Given the description of an element on the screen output the (x, y) to click on. 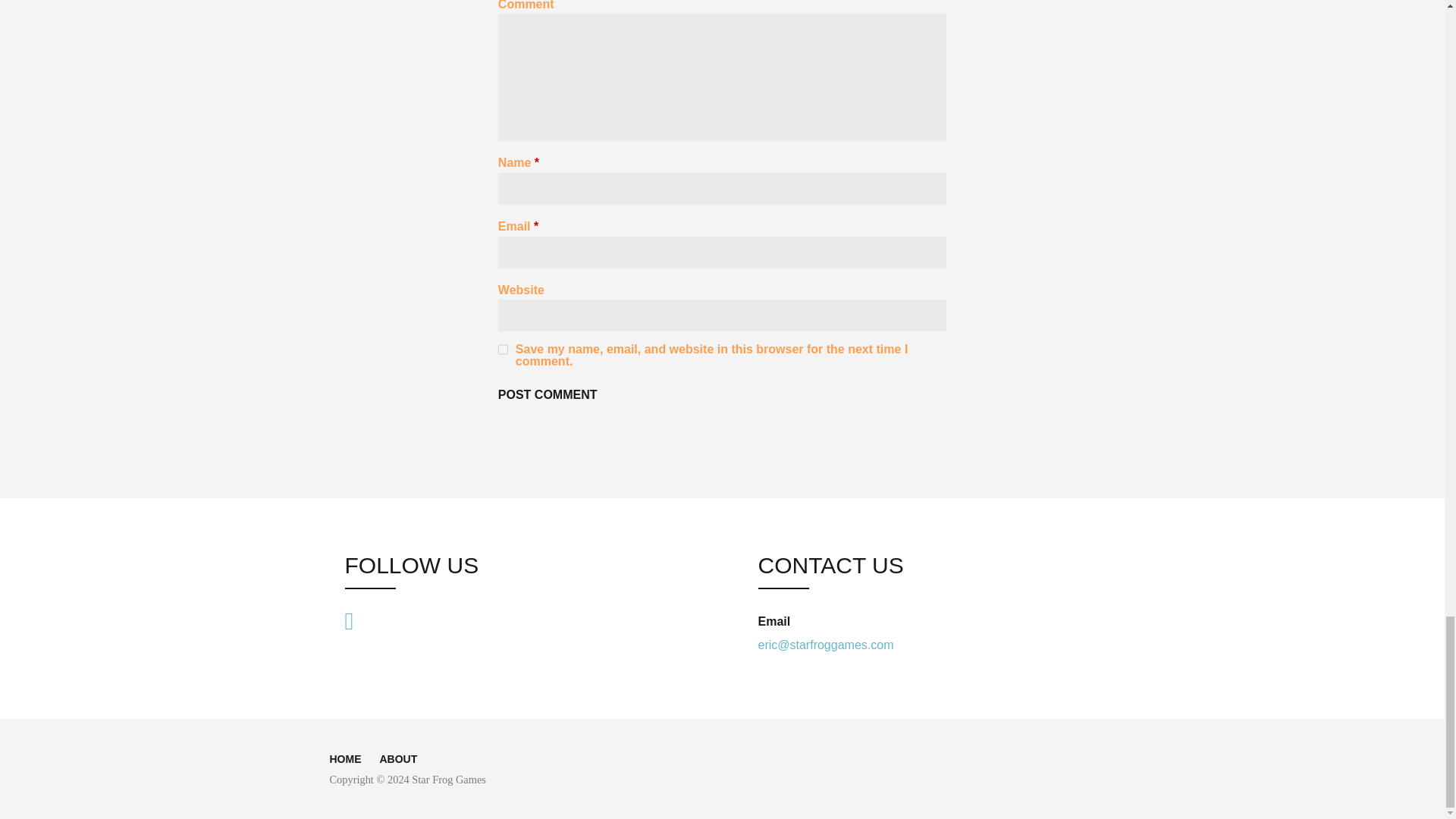
HOME (345, 758)
Visit Star Frog Games on LinkedIn (348, 619)
yes (502, 349)
Post Comment (546, 395)
Post Comment (546, 395)
ABOUT (397, 758)
